Given the description of an element on the screen output the (x, y) to click on. 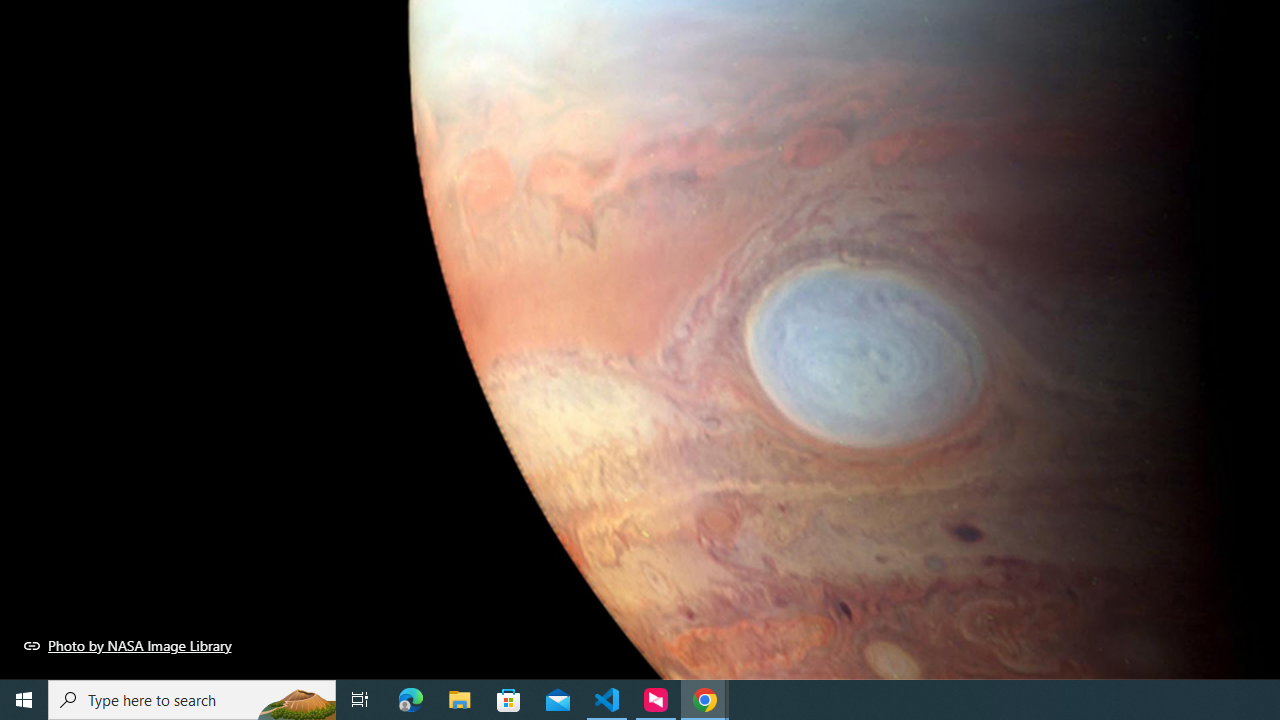
Photo by NASA Image Library (127, 645)
